Given the description of an element on the screen output the (x, y) to click on. 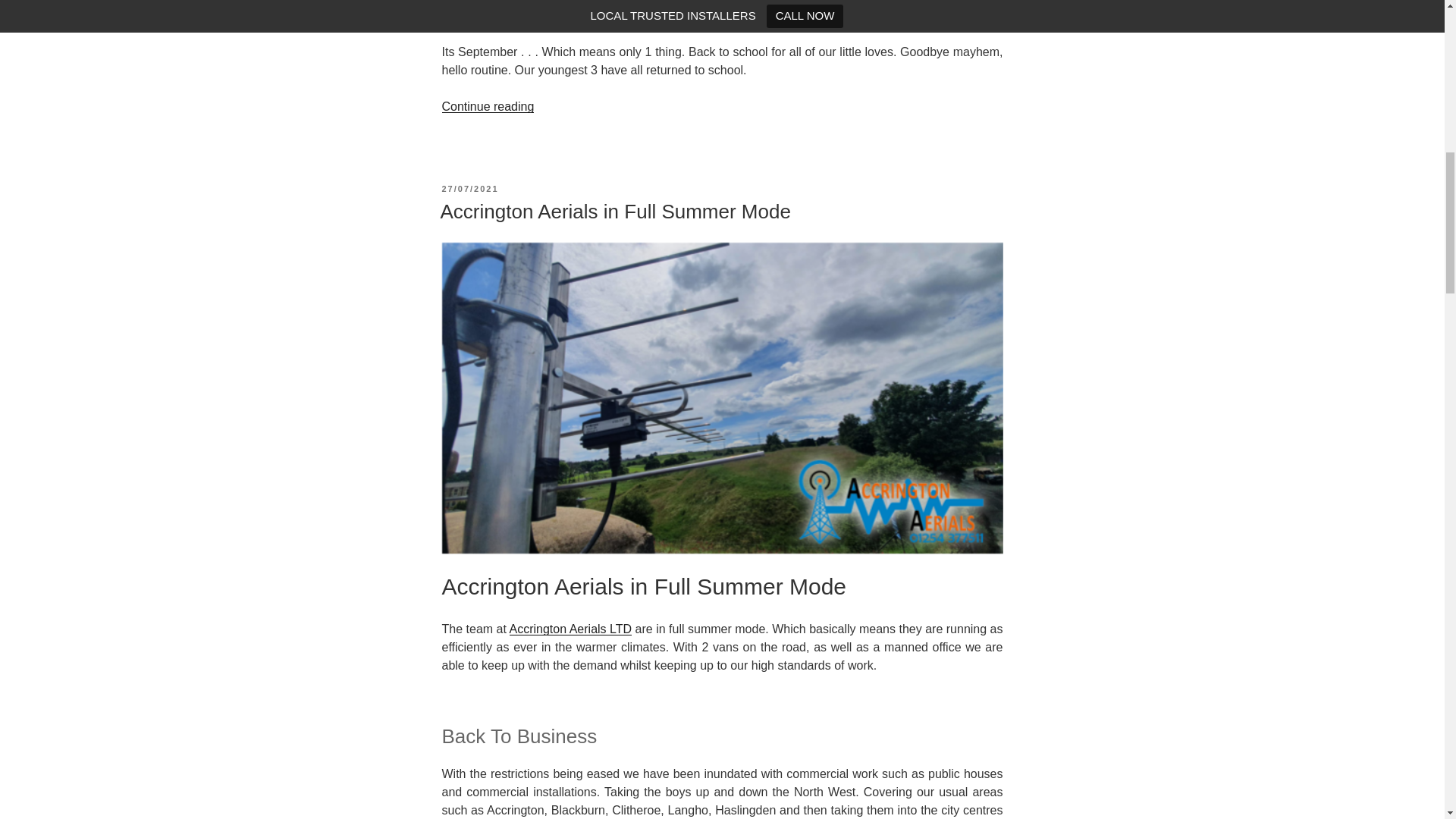
Accrington Aerials in Full Summer Mode (614, 210)
Accrington Aerials LTD (570, 628)
